Given the description of an element on the screen output the (x, y) to click on. 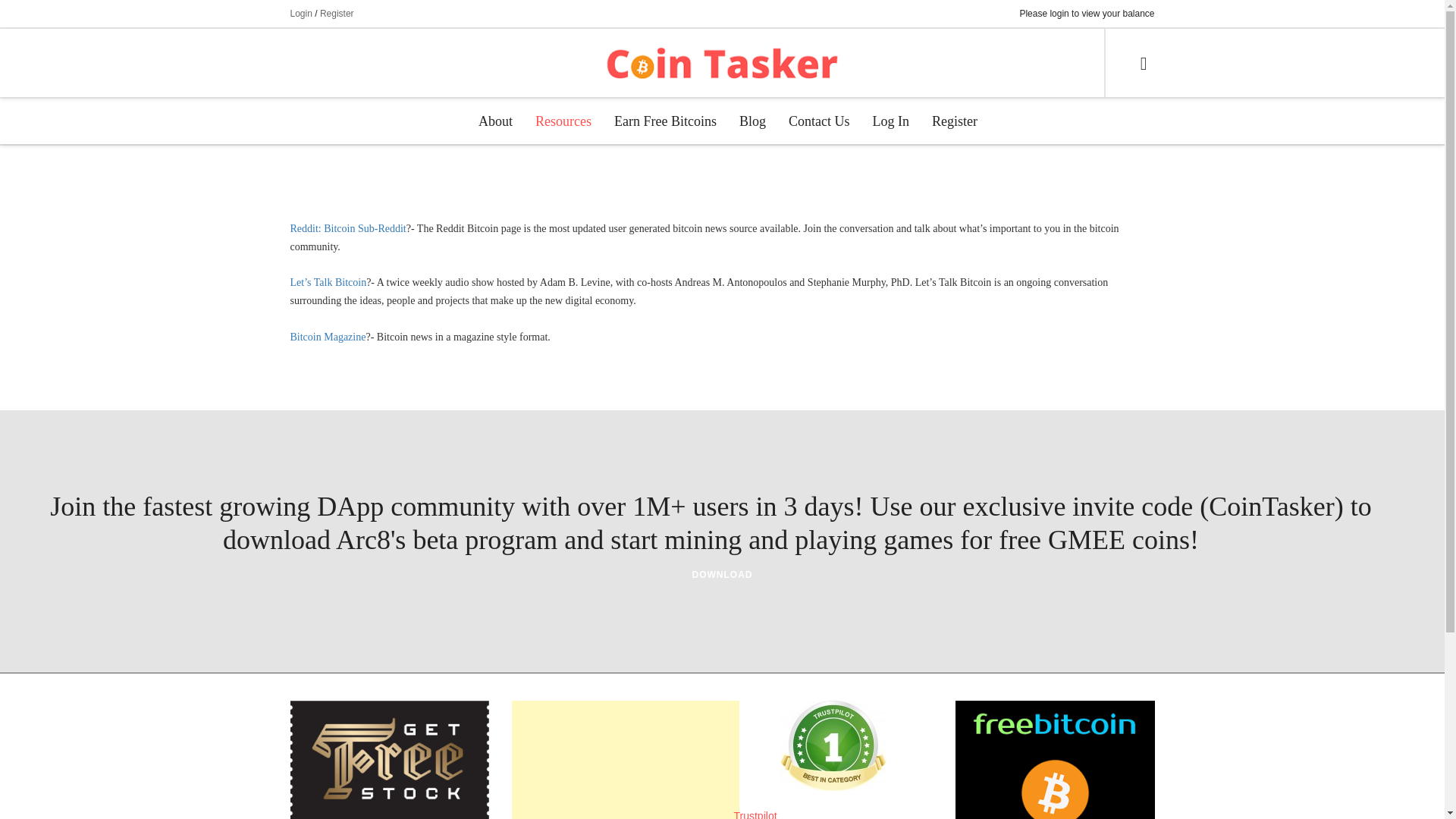
Login (300, 13)
Register (336, 13)
Bitcoin Sub-Reddit (347, 228)
Bitcoin Magazine (327, 337)
Resources (563, 121)
Let's Talk Bitcoin (327, 282)
About (495, 121)
